Given the description of an element on the screen output the (x, y) to click on. 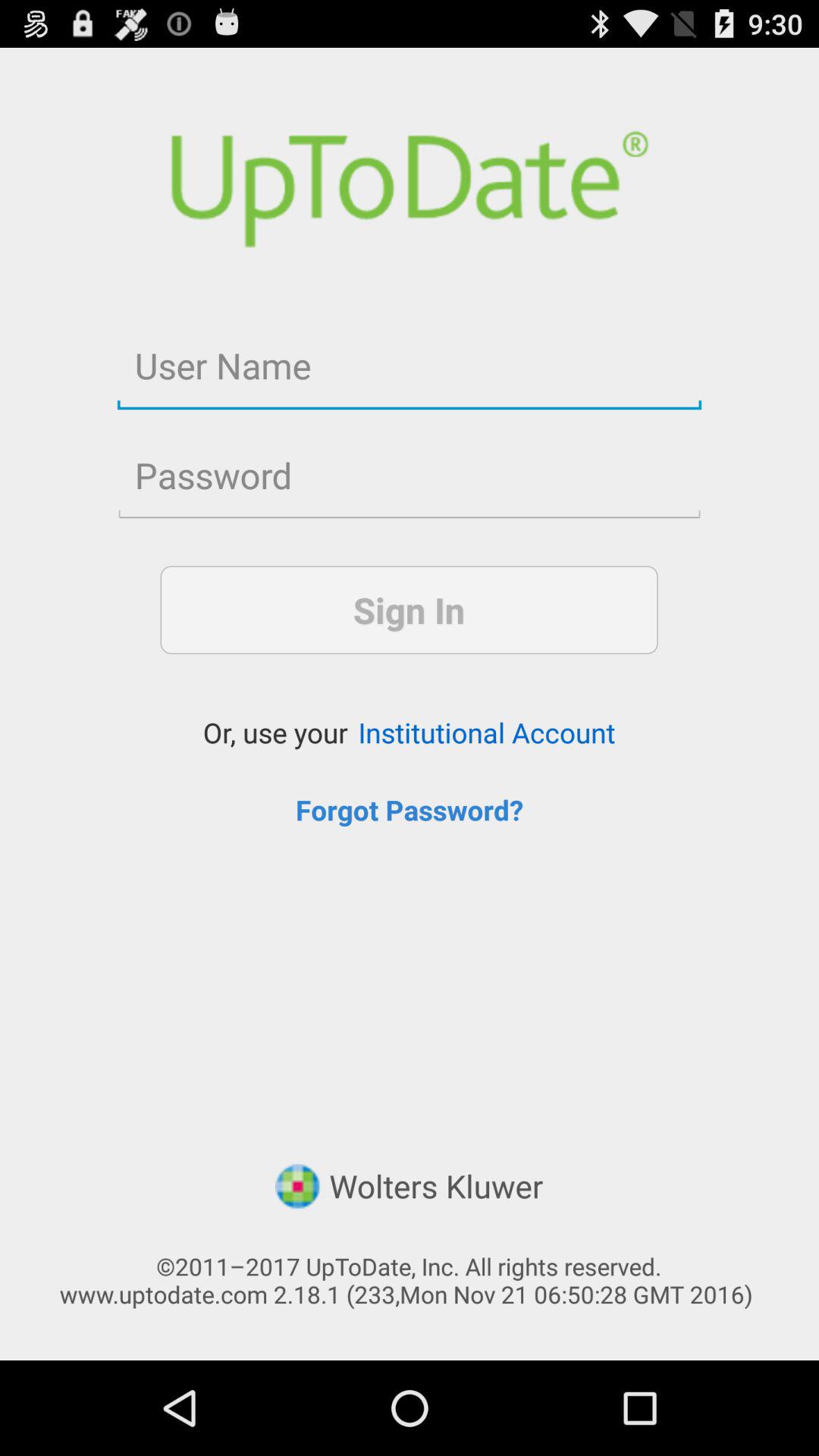
click the sign in (409, 609)
